Given the description of an element on the screen output the (x, y) to click on. 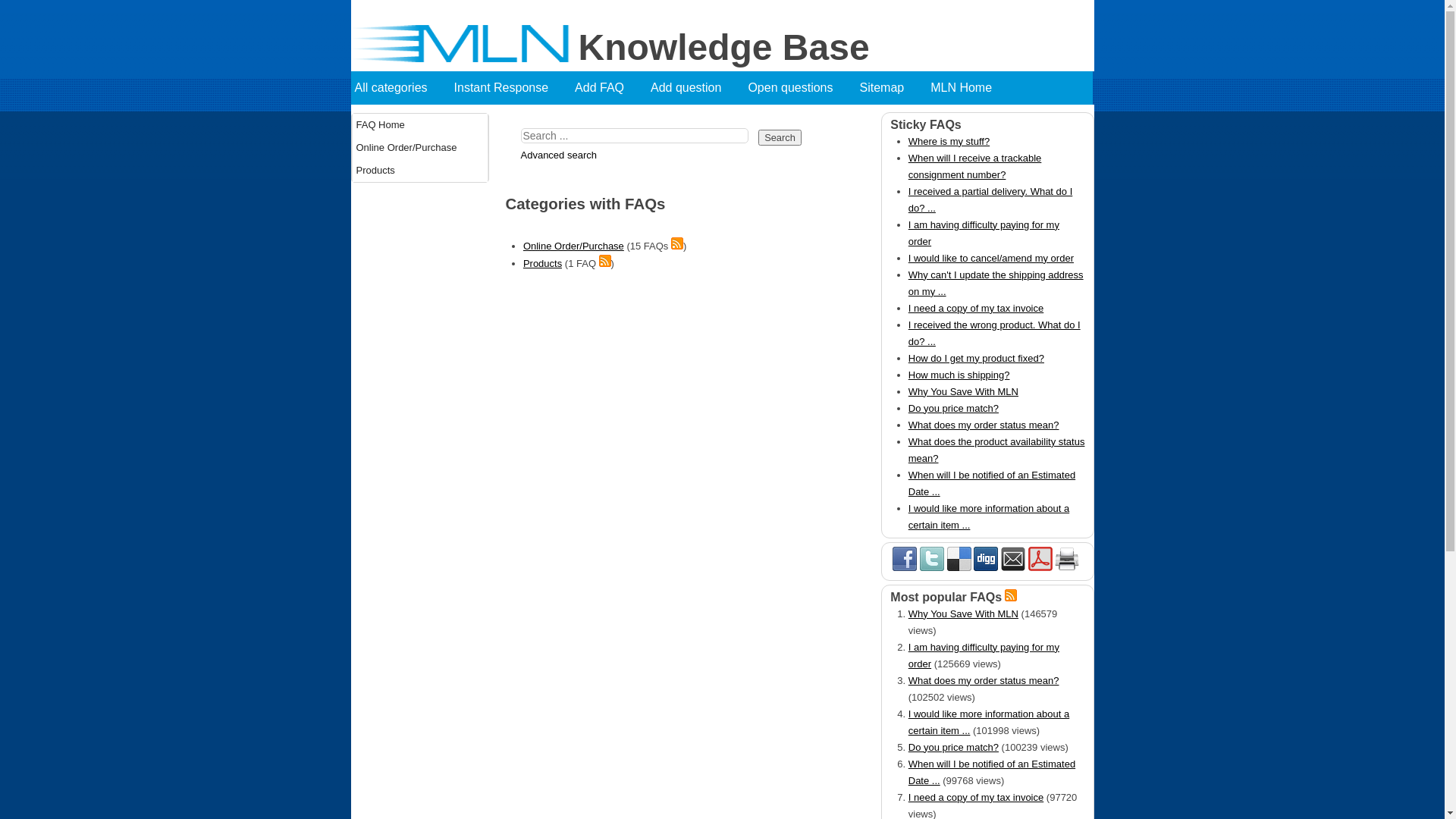
When will I be notified of an Estimated Date ... Element type: text (991, 772)
I would like more information about a certain item ... Element type: text (996, 516)
Products Element type: text (418, 170)
Send FAQ to a friend Element type: hover (1013, 558)
Add FAQ Element type: text (597, 87)
Share on Twitter Element type: hover (931, 558)
I am having difficulty paying for my order Element type: text (996, 233)
Why You Save With MLN Element type: text (963, 613)
Search Element type: text (779, 136)
Print this record Element type: hover (1066, 558)
Show this as PDF file Element type: hover (1040, 558)
How much is shipping? Element type: text (996, 375)
What does my order status mean? Element type: text (983, 680)
Add question Element type: text (683, 87)
Share on Facebook Element type: hover (904, 558)
FAQ Home Element type: text (418, 124)
Online Order/Purchase Element type: text (573, 245)
How do I get my product fixed? Element type: text (996, 358)
When will I be notified of an Estimated Date ... Element type: text (996, 483)
I need a copy of my tax invoice Element type: text (975, 797)
Products Element type: text (542, 263)
What does the product availability status mean? Element type: text (996, 450)
When will I receive a trackable consignment number? Element type: text (996, 166)
Where is my stuff? Element type: text (996, 141)
Why can't I update the shipping address on my ... Element type: text (996, 283)
Sitemap Element type: text (879, 87)
Knowledge Base Element type: text (721, 47)
Instant Response Element type: text (499, 87)
Do you price match? Element type: text (996, 408)
I received a partial delivery. What do I do? ... Element type: text (996, 199)
Why You Save With MLN Element type: text (996, 391)
Digg it! Element type: hover (985, 558)
Bookmark this on Delicious Element type: hover (959, 558)
MLN Home Element type: text (958, 87)
I would like to cancel/amend my order Element type: text (996, 258)
Advanced search Element type: text (562, 154)
I need a copy of my tax invoice Element type: text (996, 308)
  Element type: text (1042, 87)
I would like more information about a certain item ... Element type: text (988, 722)
All categories Element type: text (388, 87)
Open questions Element type: text (787, 87)
Knowledge Base Element type: hover (463, 58)
I received the wrong product. What do I do? ... Element type: text (996, 333)
What does my order status mean? Element type: text (996, 425)
I am having difficulty paying for my order Element type: text (983, 655)
Do you price match? Element type: text (953, 747)
Online Order/Purchase Element type: text (418, 147)
